Given the description of an element on the screen output the (x, y) to click on. 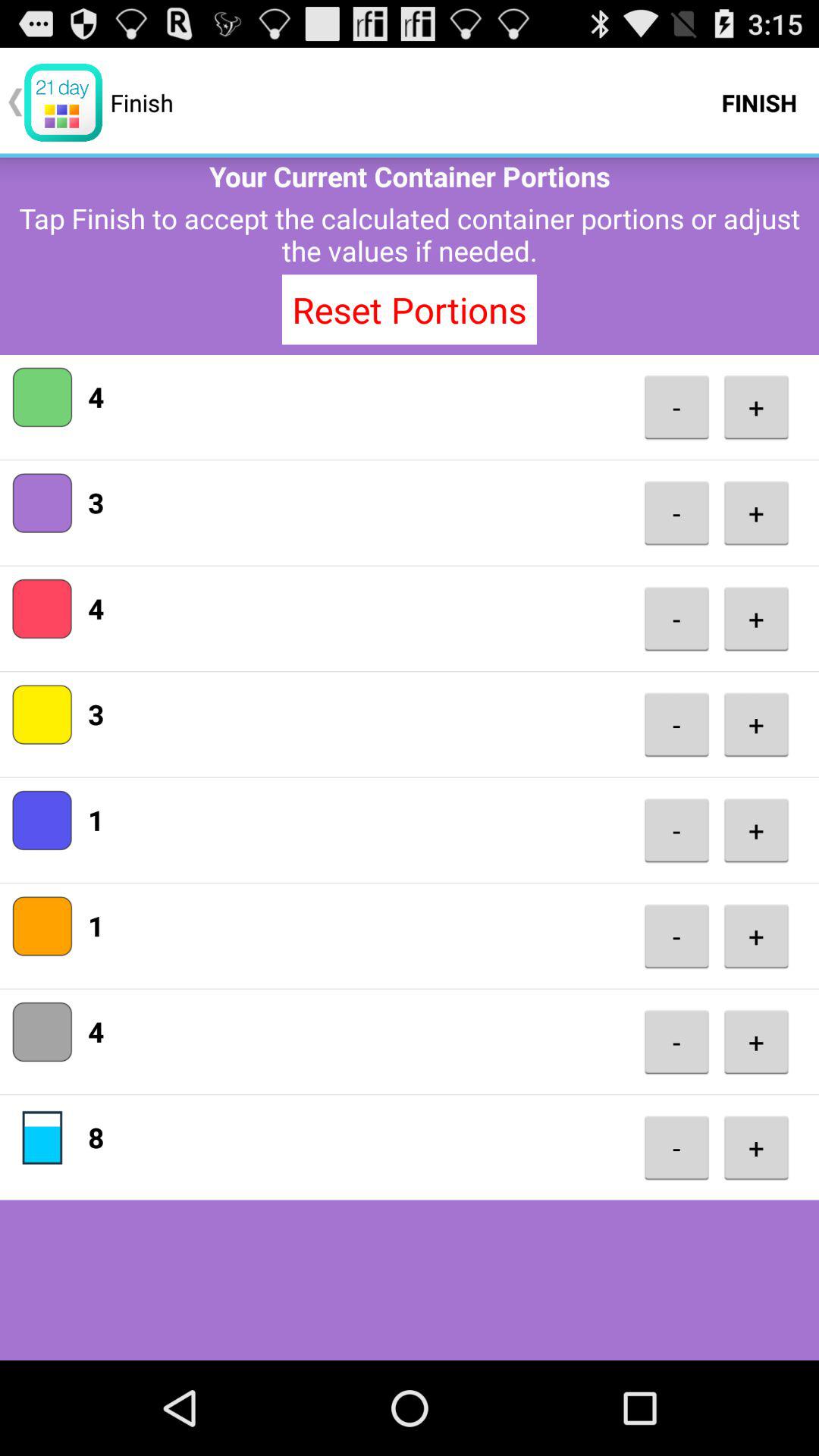
turn off the app next to the 3 item (676, 512)
